Given the description of an element on the screen output the (x, y) to click on. 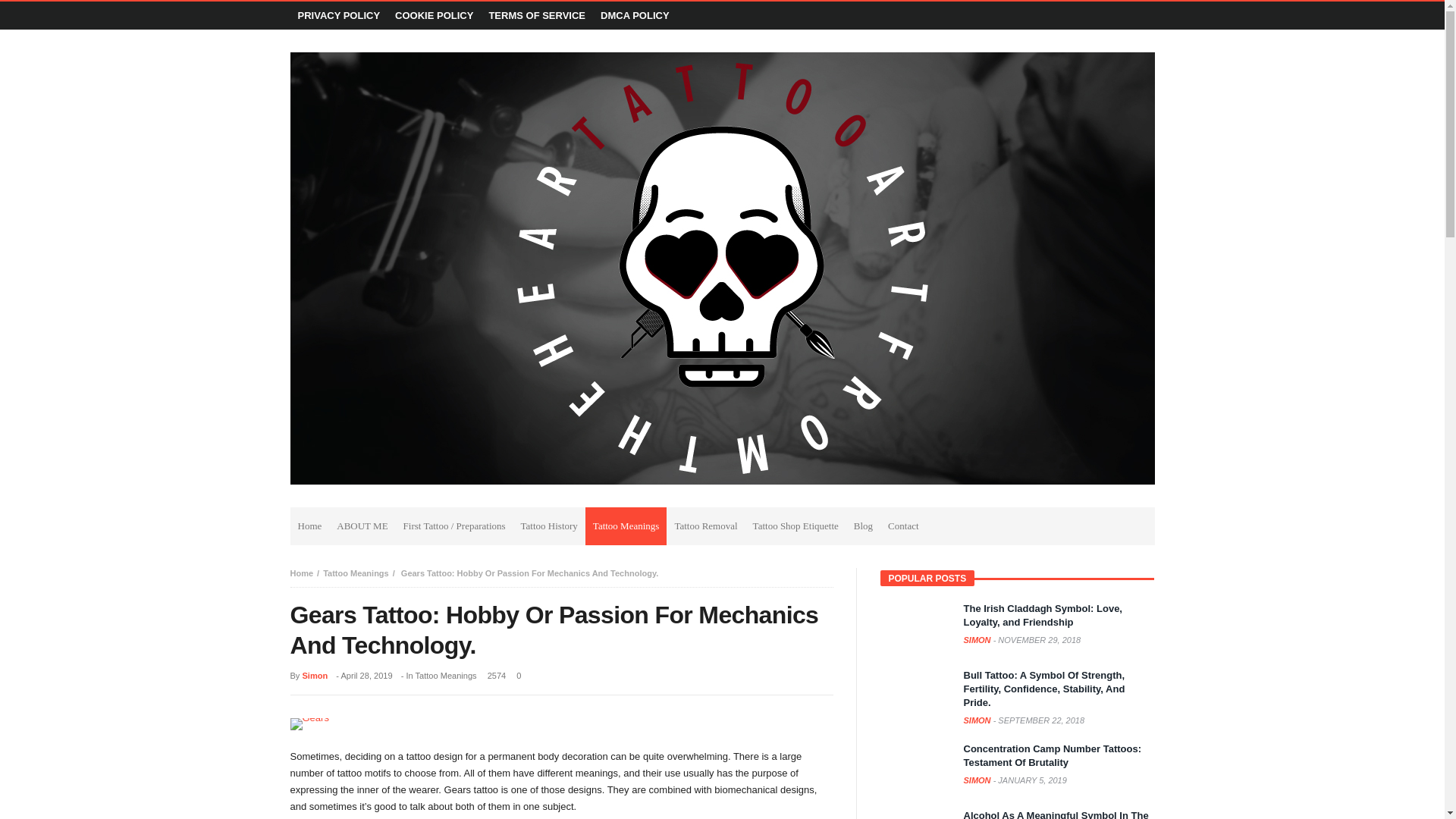
Tattoo Meanings (625, 525)
instagram (1111, 15)
Tattoo Removal (705, 525)
Tattoo Meanings (355, 573)
Tattoo Shop Etiquette (795, 525)
Tattoo History (549, 525)
Blog (862, 525)
Concentration Camp Number Tattoos: Testament Of Brutality (1051, 755)
Contact (903, 525)
ABOUT ME (361, 525)
